Given the description of an element on the screen output the (x, y) to click on. 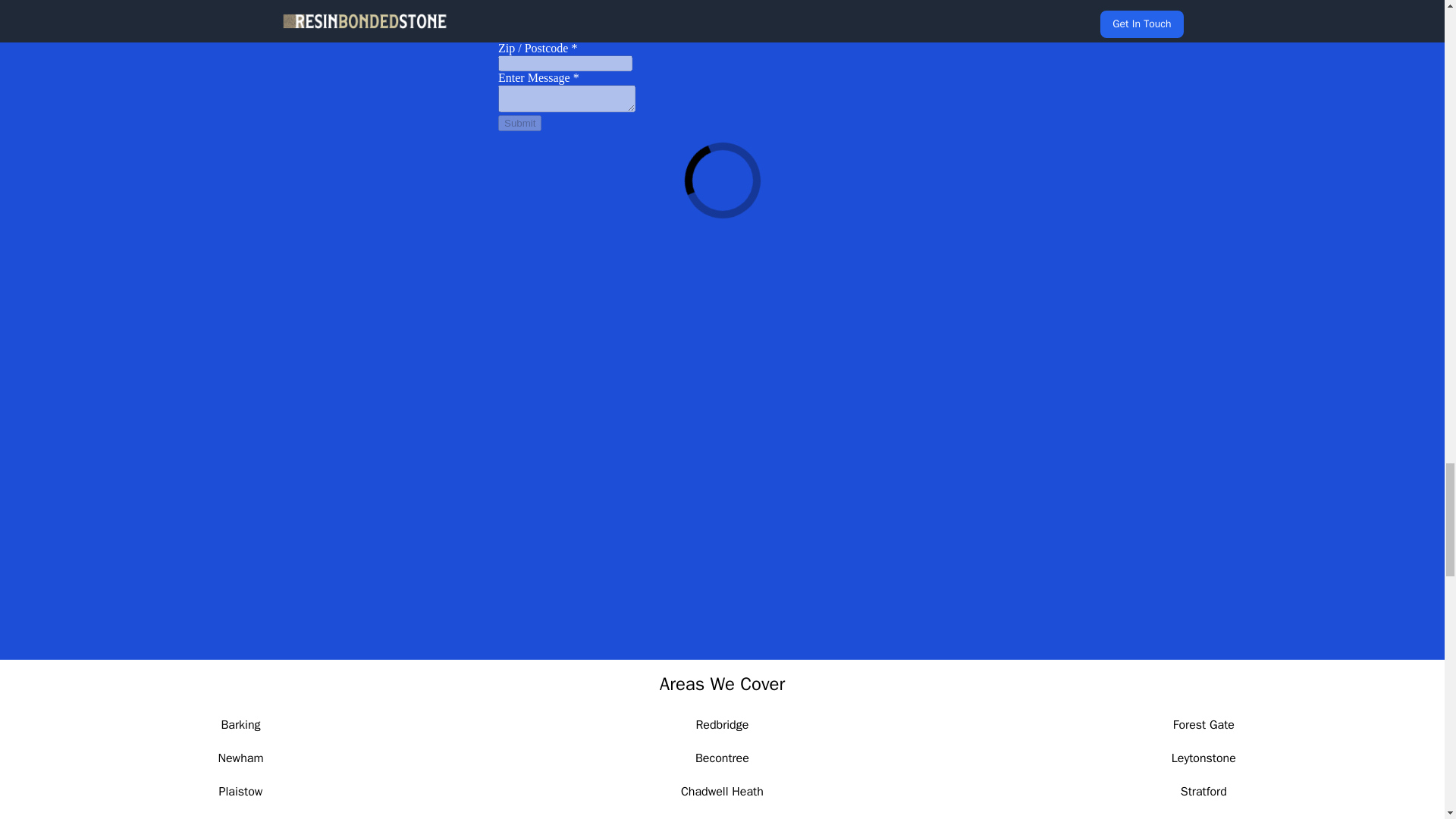
Forest Gate (1203, 724)
Leytonstone (1204, 758)
Barking (240, 724)
Dagenham (722, 818)
Becontree (722, 758)
Redbridge (721, 724)
Newham (239, 758)
Plaistow (241, 791)
Chadwell Heath (721, 791)
Stratford (1203, 791)
Thamesmead (1203, 818)
Walthamstow (240, 818)
